Given the description of an element on the screen output the (x, y) to click on. 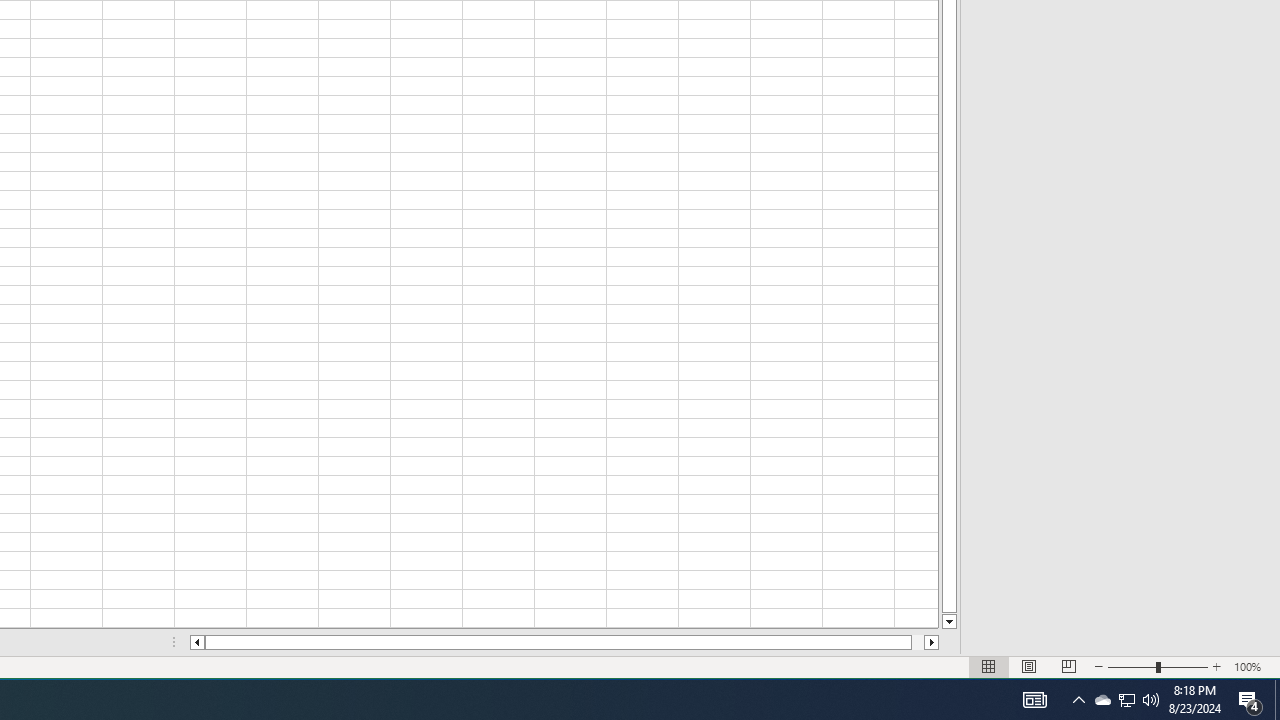
Action Center, 4 new notifications (1250, 699)
Notification Chevron (1078, 699)
